Given the description of an element on the screen output the (x, y) to click on. 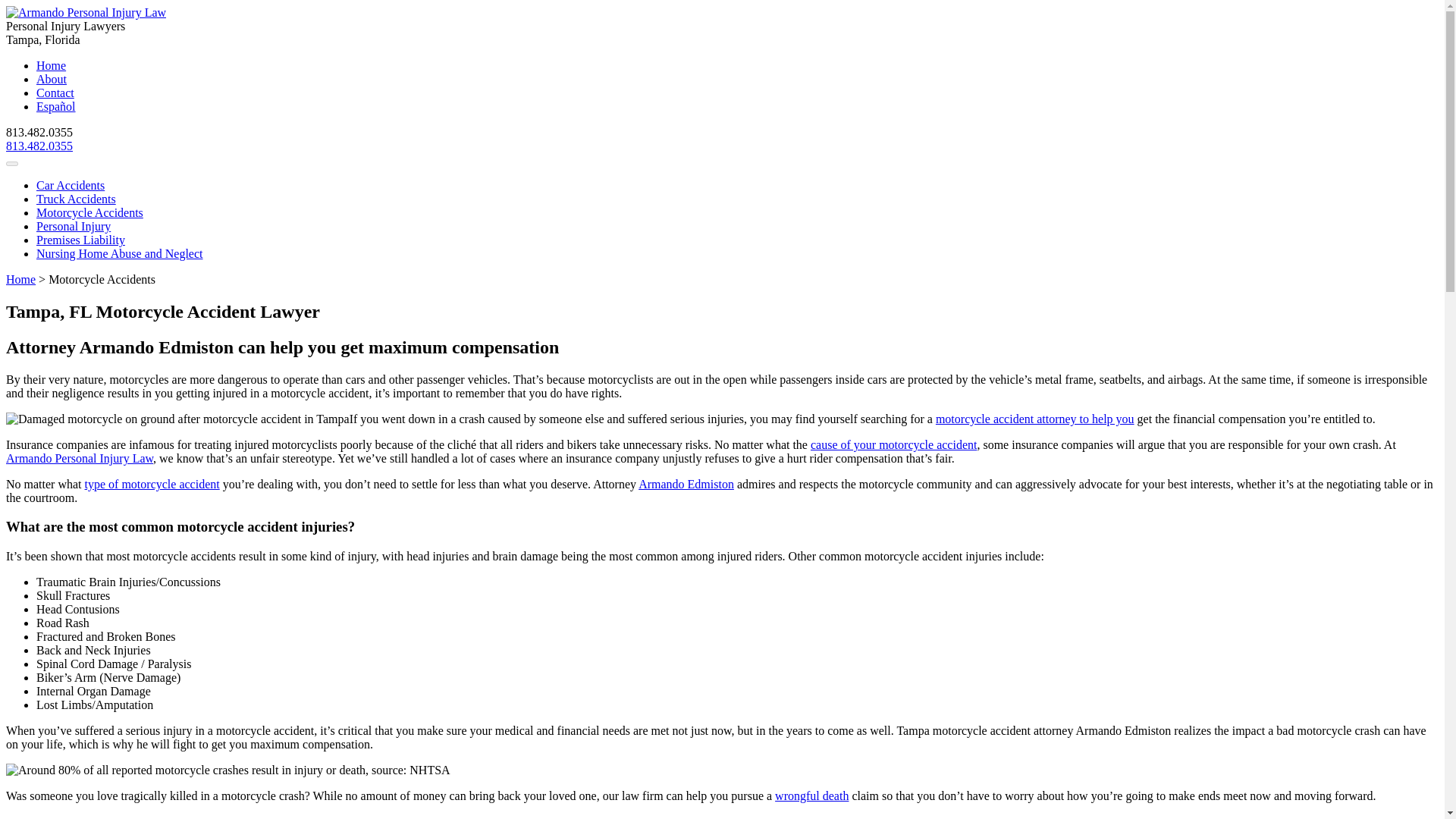
Types of Motorcycle Accidents (151, 483)
type of motorcycle accident (151, 483)
Armando Personal Injury Law (78, 458)
Armando Edmiston (686, 483)
Home (50, 65)
Armando Personal Injury Law (78, 458)
Attorney Armando Edmiston (686, 483)
Wrongful Death (811, 795)
Home (19, 278)
wrongful death (811, 795)
Personal Injury (73, 226)
cause of your motorcycle accident (893, 444)
motorcycle accident attorney to help you (1035, 418)
Car Accidents (70, 185)
Nursing Home Abuse and Neglect (119, 253)
